Given the description of an element on the screen output the (x, y) to click on. 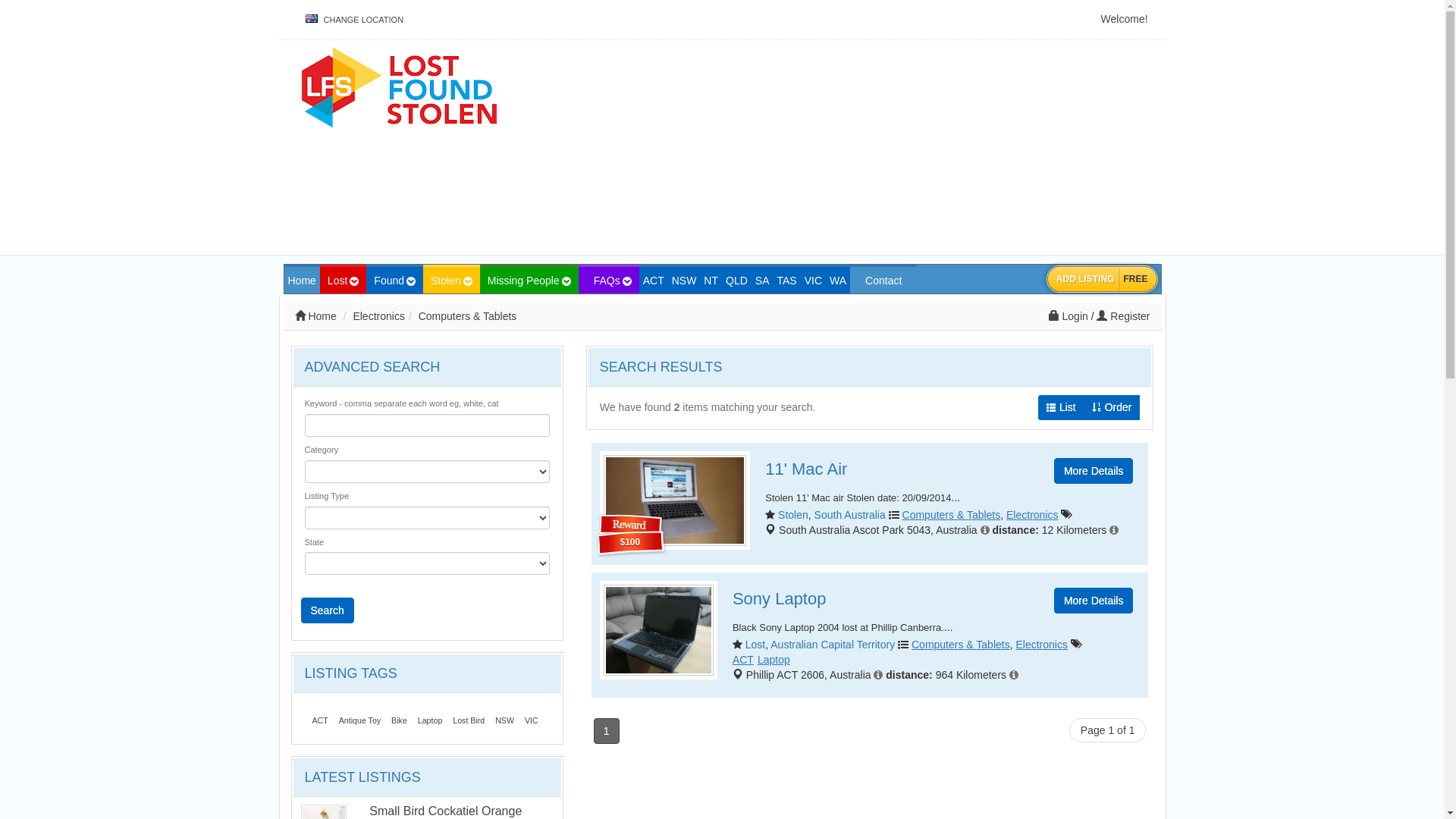
NT Element type: text (710, 279)
Stolen Element type: text (451, 279)
Login Element type: text (1069, 316)
NSW Element type: text (504, 719)
Lost Found Stolen Element type: hover (398, 86)
11' Mac Air Element type: text (806, 468)
Lost Bird Element type: text (468, 719)
Computers & Tablets Element type: text (951, 514)
Search Element type: text (326, 610)
Missing People Element type: text (529, 279)
Laptop Element type: text (429, 719)
Bike Element type: text (399, 719)
QLD Element type: text (736, 279)
ADD LISTING
FREE Element type: text (1102, 278)
SA Element type: text (762, 279)
Antique Toy Element type: text (359, 719)
Advertisement Element type: hover (898, 148)
CHANGE LOCATION Element type: text (353, 19)
South Australia Element type: text (849, 514)
List Element type: text (1061, 407)
Order Element type: text (1111, 407)
More Details Element type: text (1093, 470)
ADD LISTING
FREE Element type: text (1102, 278)
Sony Laptop Element type: text (779, 598)
Lost Element type: text (343, 279)
Home Element type: text (301, 279)
ACT Element type: text (653, 279)
VIC Element type: text (812, 279)
Electronics Element type: text (378, 316)
ACT Element type: text (320, 719)
$100 Element type: text (674, 500)
Laptop Element type: text (775, 659)
Home Element type: text (314, 316)
WA Element type: text (837, 279)
FAQs Element type: text (608, 279)
Australian Capital Territory Element type: text (832, 644)
TAS Element type: text (786, 279)
Contact Element type: text (883, 279)
Found Element type: text (394, 279)
Computers & Tablets Element type: text (467, 316)
ACT Element type: text (744, 659)
Computers & Tablets Element type: text (960, 644)
VIC Element type: text (531, 719)
Page 1 of 1 Element type: text (1107, 730)
Lost Element type: text (755, 644)
NSW Element type: text (684, 279)
Stolen Element type: text (793, 514)
Electronics Element type: text (1031, 514)
Electronics Element type: text (1040, 644)
Register Element type: text (1122, 316)
1 Element type: text (606, 730)
More Details Element type: text (1093, 600)
